Given the description of an element on the screen output the (x, y) to click on. 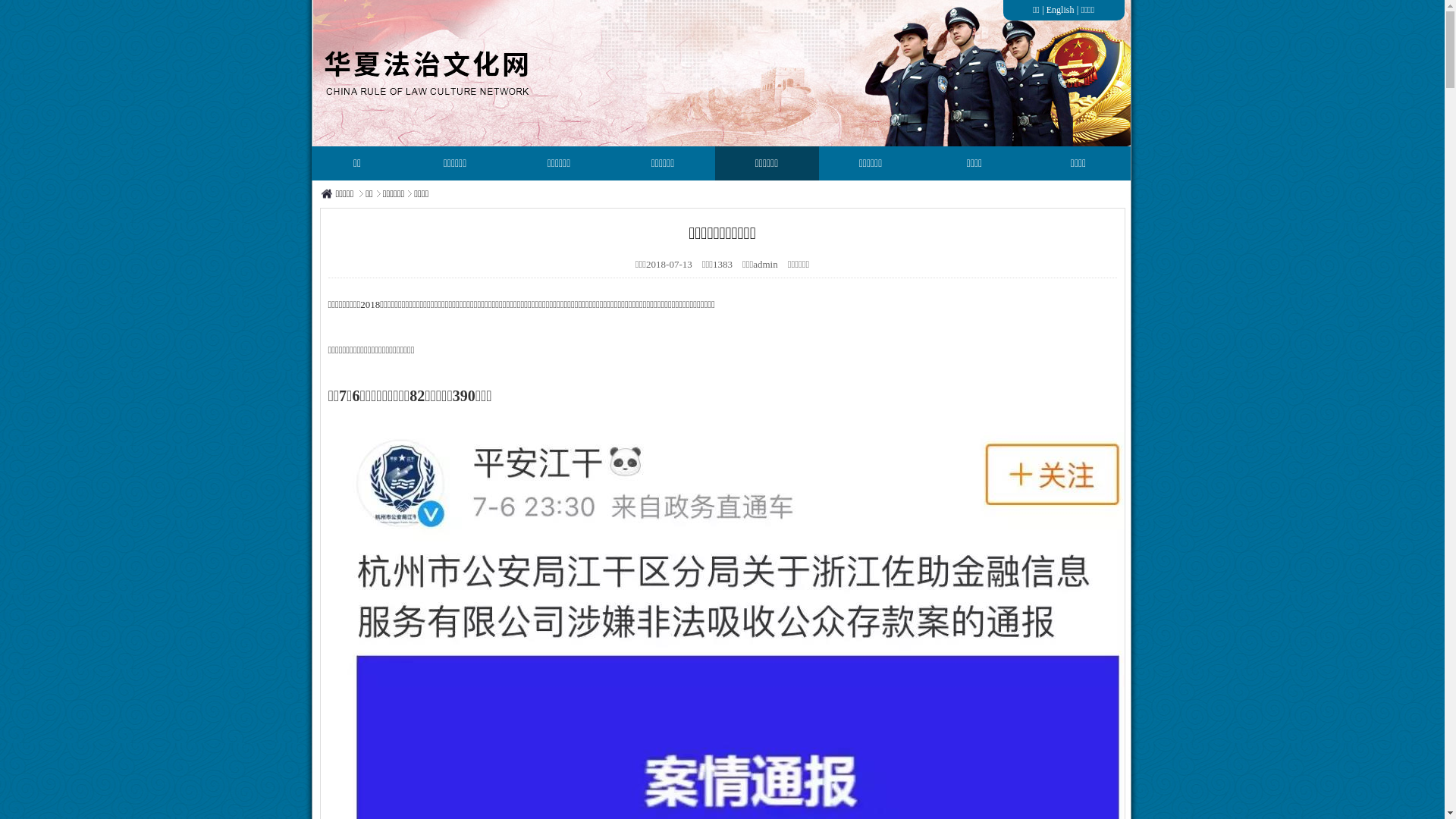
English Element type: text (1060, 9)
